Given the description of an element on the screen output the (x, y) to click on. 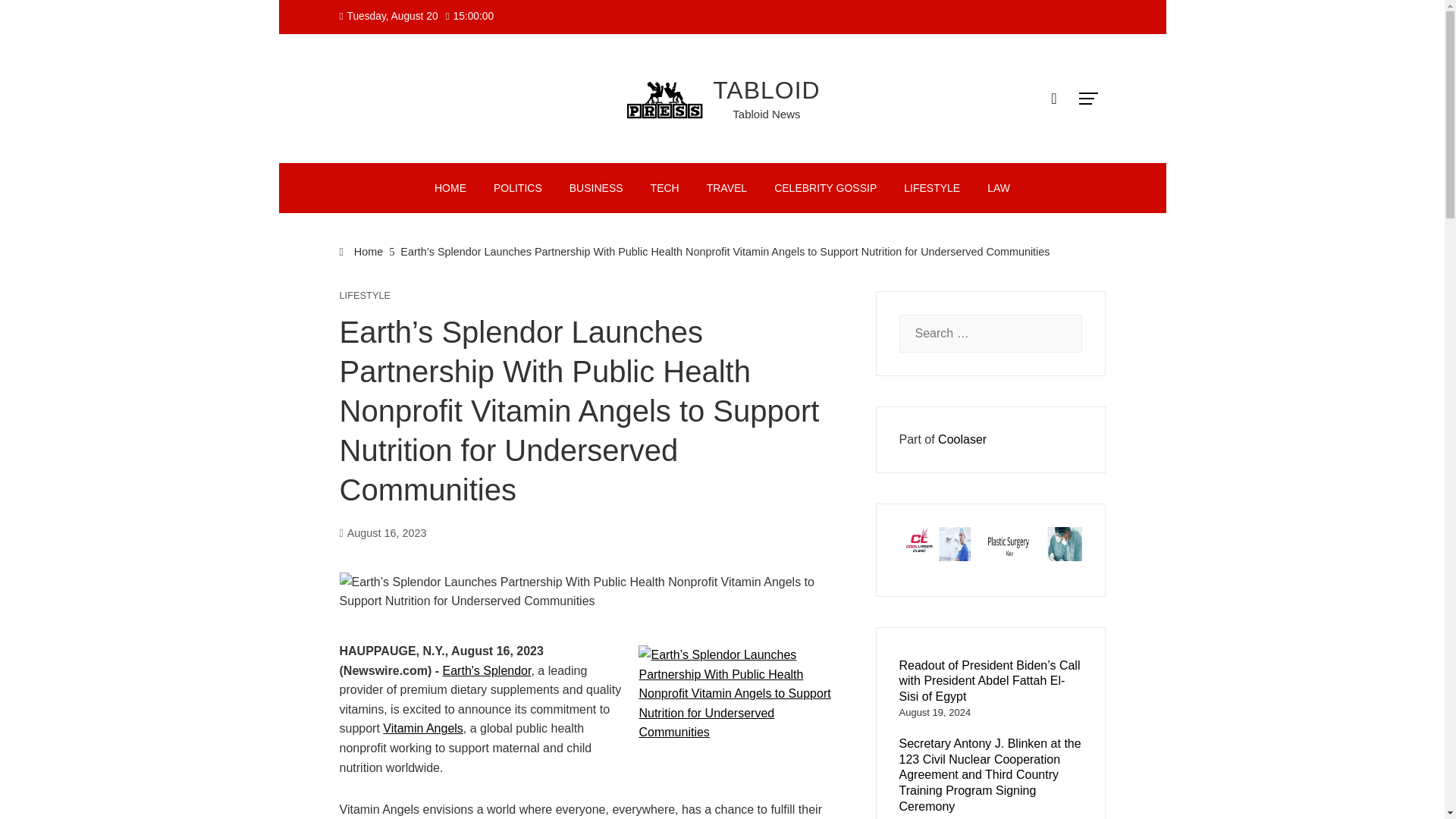
TECH (664, 187)
Tabloid News (765, 113)
TRAVEL (726, 187)
LAW (998, 187)
TABLOID (767, 89)
LIFESTYLE (365, 296)
POLITICS (517, 187)
CELEBRITY GOSSIP (825, 187)
HOME (450, 187)
LIFESTYLE (931, 187)
